Given the description of an element on the screen output the (x, y) to click on. 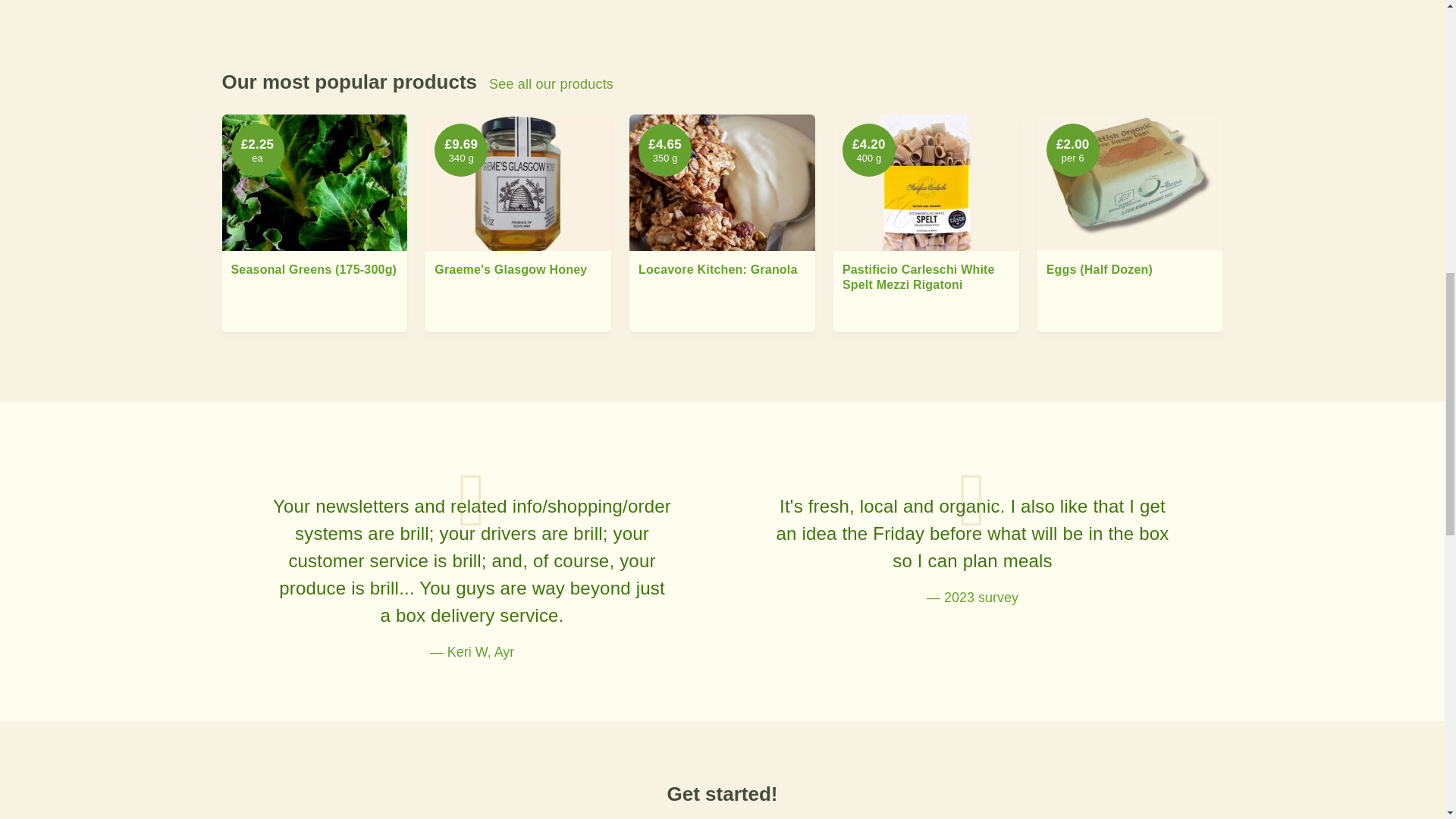
See all our products (550, 84)
